Given the description of an element on the screen output the (x, y) to click on. 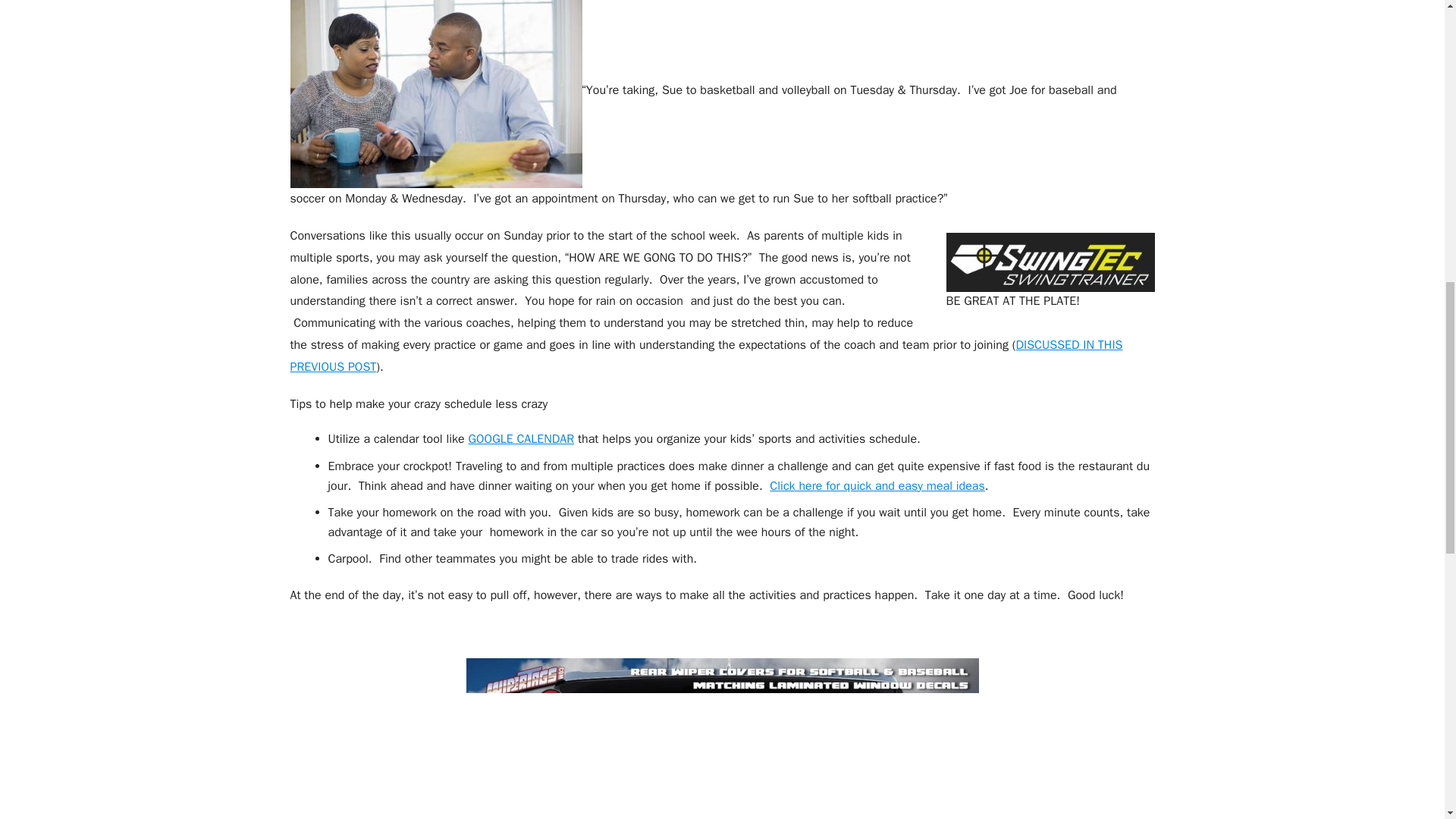
Click here for quick and easy meal ideas (877, 485)
DISCUSSED IN THIS PREVIOUS POST (705, 355)
GOOGLE CALENDAR (520, 438)
